Given the description of an element on the screen output the (x, y) to click on. 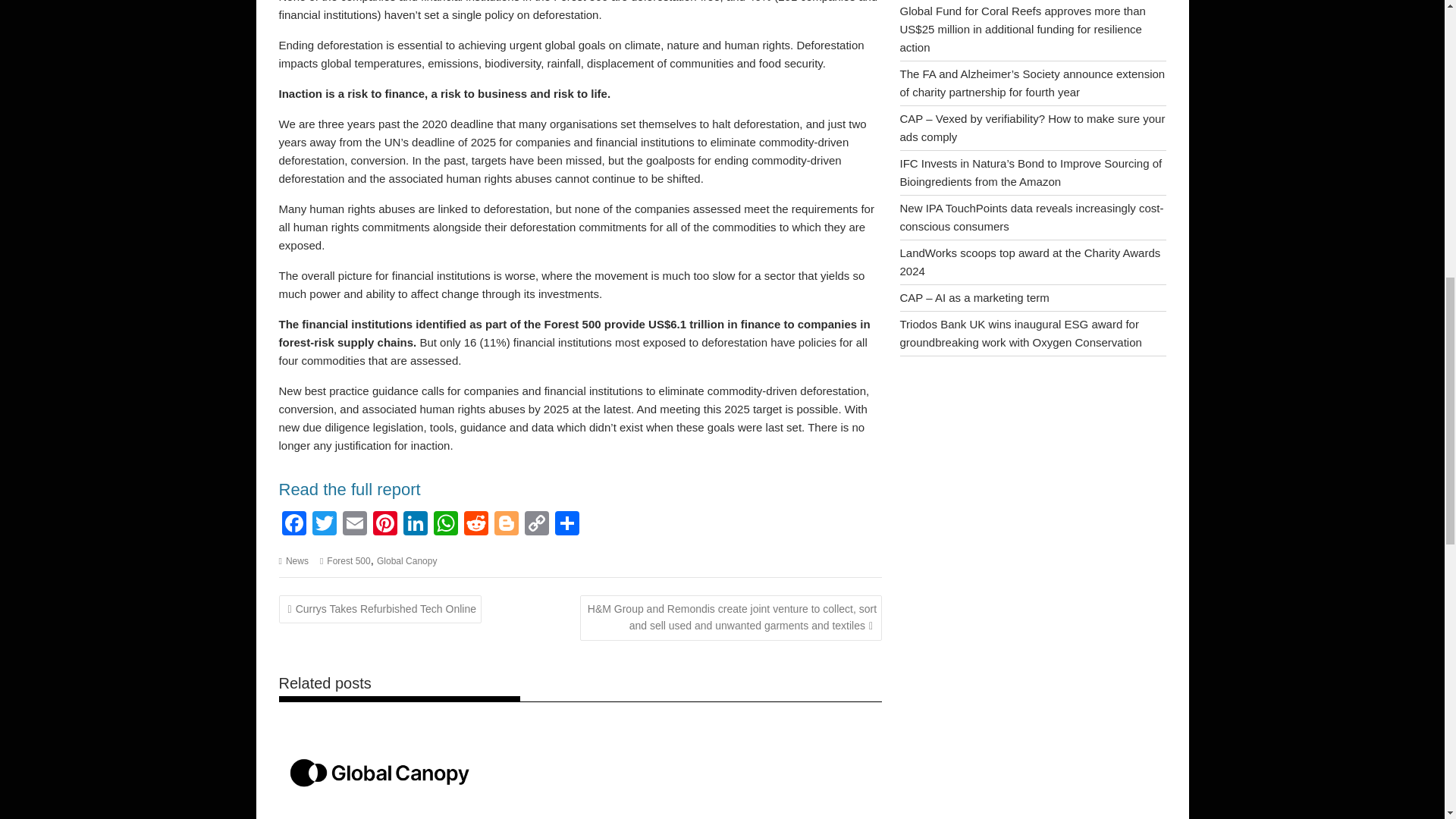
Pinterest (384, 524)
Email (354, 524)
Twitter (323, 524)
Facebook (293, 524)
